Given the description of an element on the screen output the (x, y) to click on. 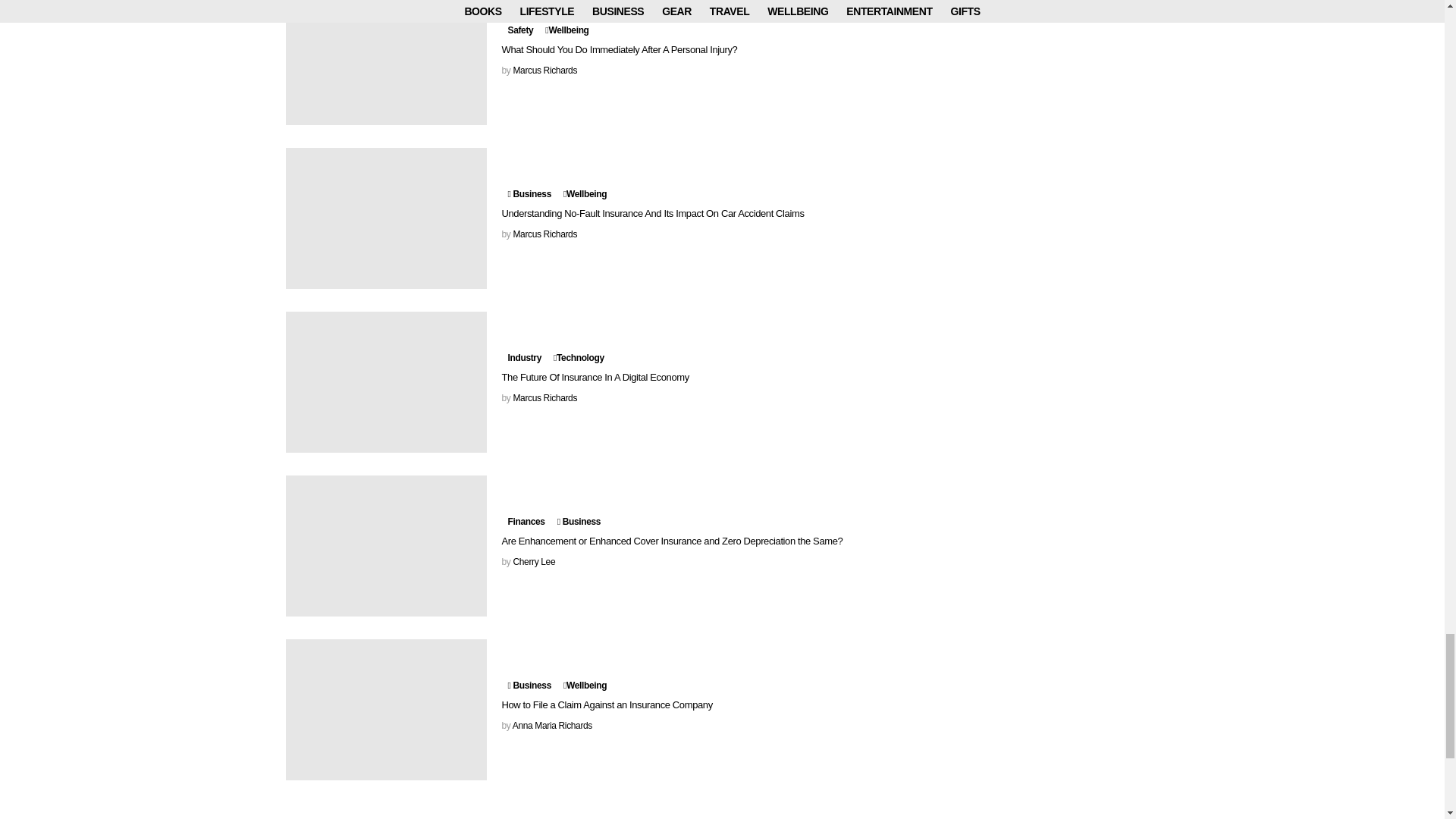
Posts by Marcus Richards (544, 70)
What Should You Do Immediately After A Personal Injury? (385, 62)
